Given the description of an element on the screen output the (x, y) to click on. 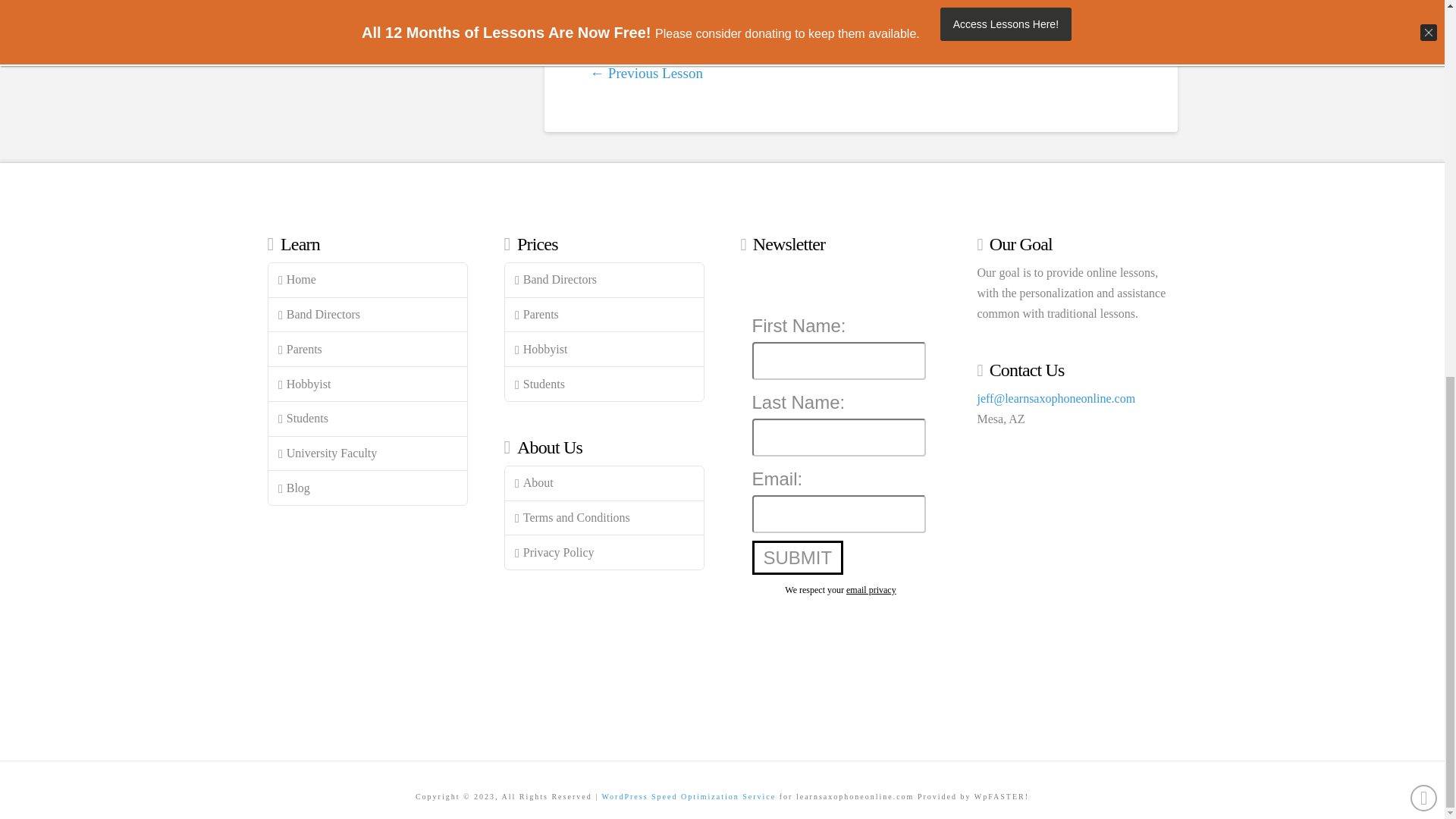
Submit (798, 557)
